Given the description of an element on the screen output the (x, y) to click on. 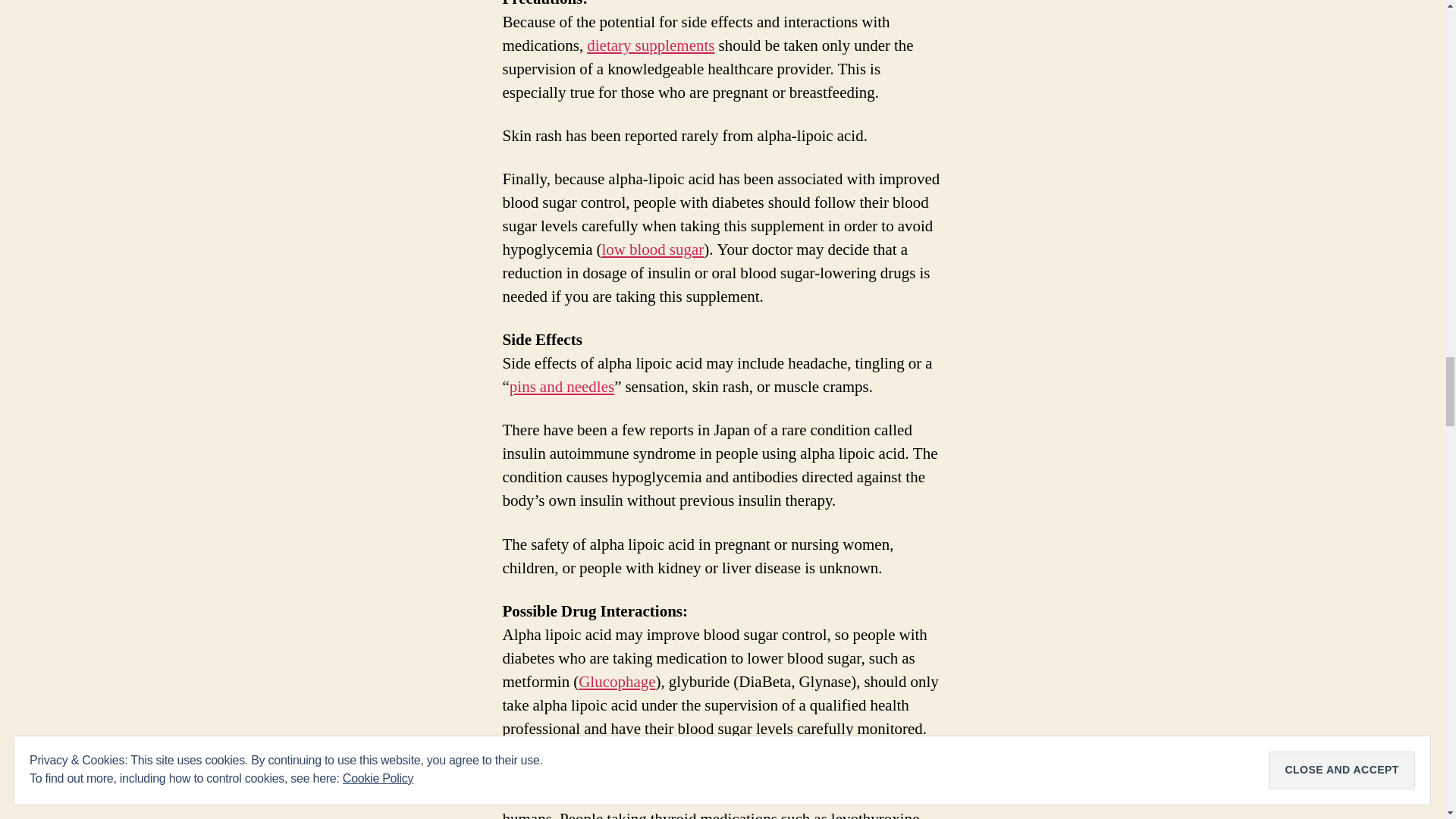
Hypoglycemia (652, 249)
dietary supplements (650, 46)
Dietary supplement (650, 46)
Paresthesia (561, 386)
low blood sugar (652, 249)
pins and needles (561, 386)
Glucophage (616, 681)
